Given the description of an element on the screen output the (x, y) to click on. 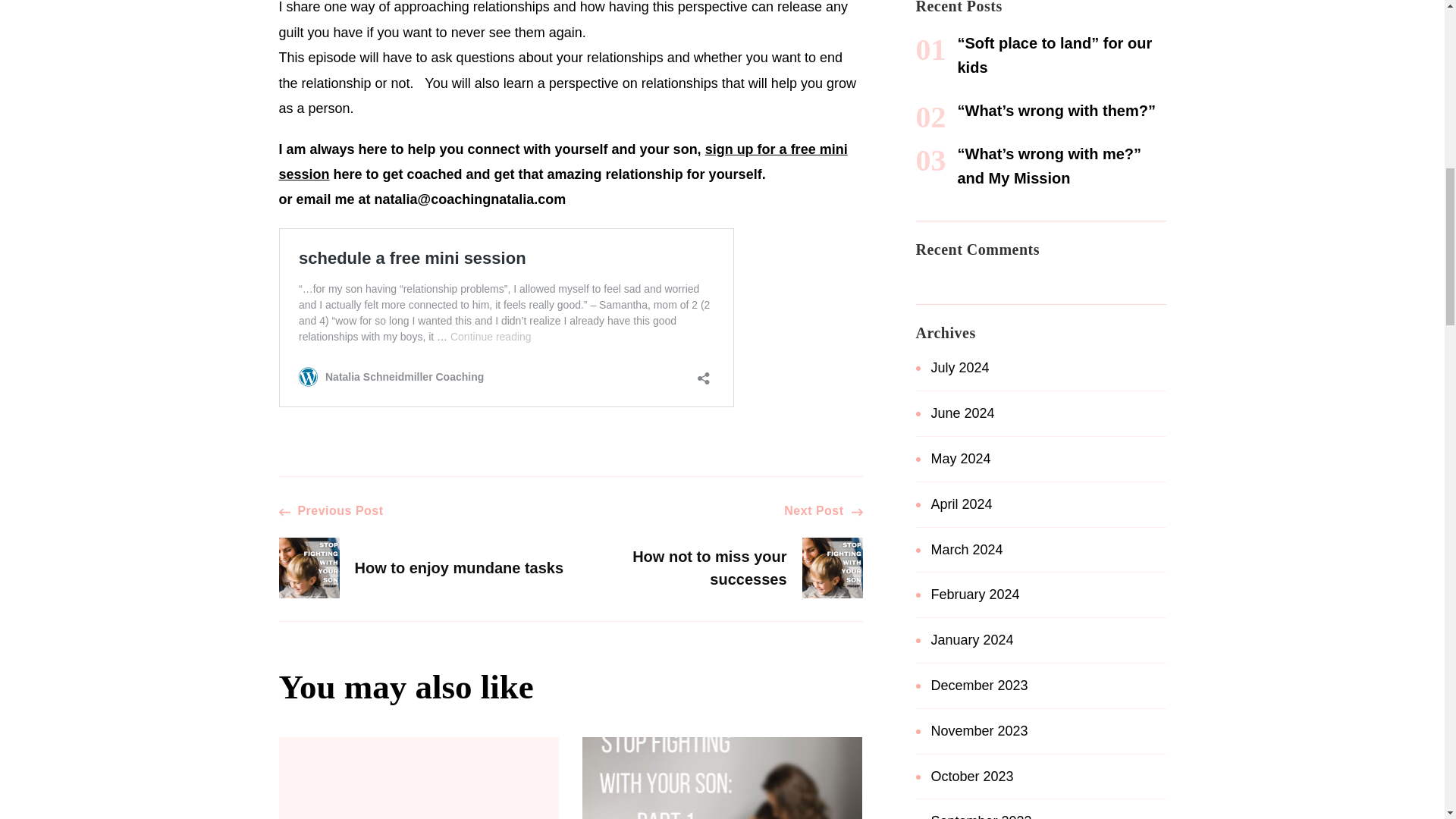
sign up for a free mini session (563, 161)
